Given the description of an element on the screen output the (x, y) to click on. 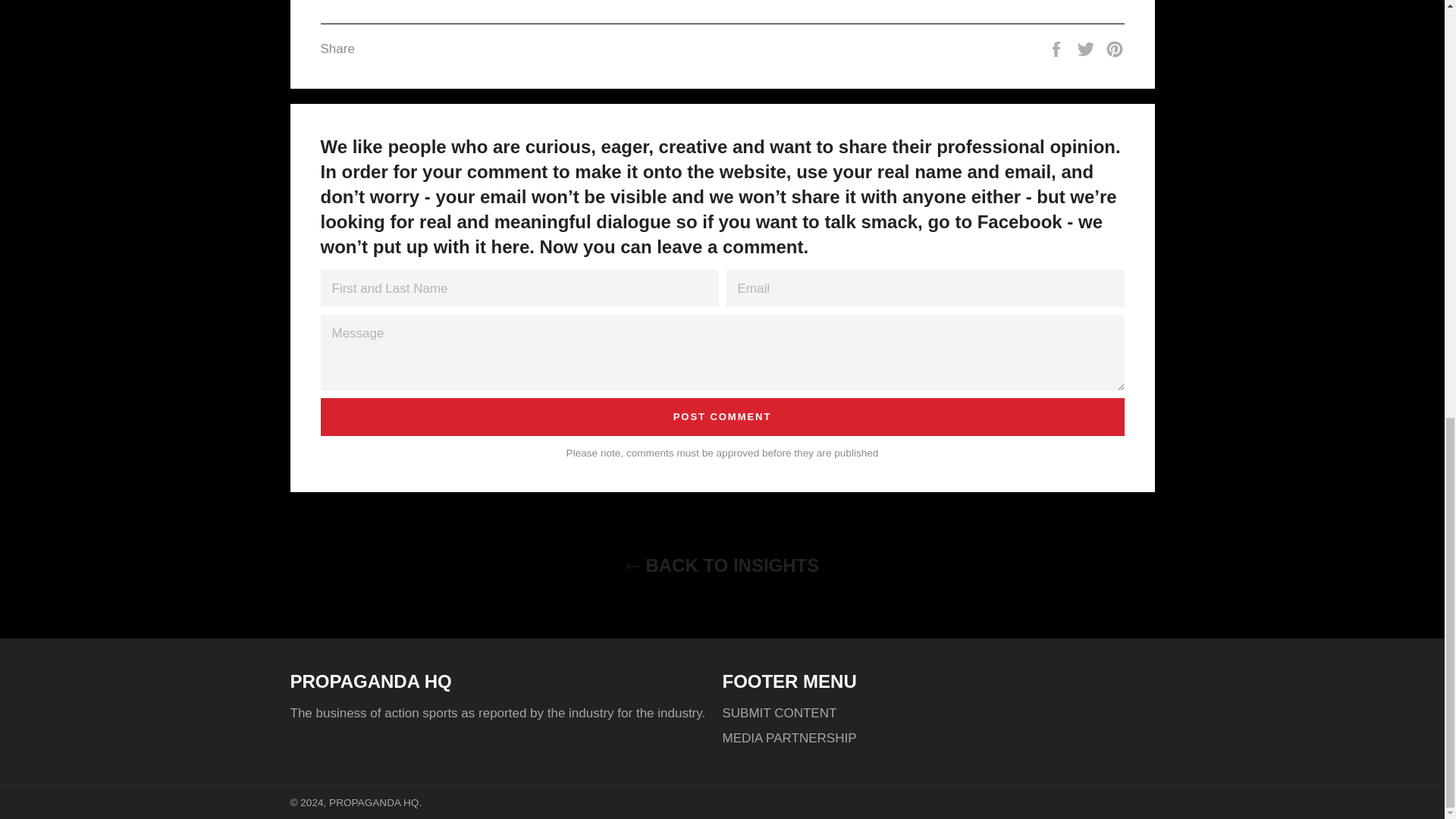
SUBMIT CONTENT (778, 712)
BACK TO INSIGHTS (721, 565)
MEDIA PARTNERSHIP (789, 738)
PROPAGANDA HQ (374, 802)
Tweet on Twitter (1088, 47)
Share on Facebook (1057, 47)
Pin on Pinterest (1114, 47)
Pin on Pinterest (1114, 47)
Tweet on Twitter (1088, 47)
Post comment (722, 416)
